Given the description of an element on the screen output the (x, y) to click on. 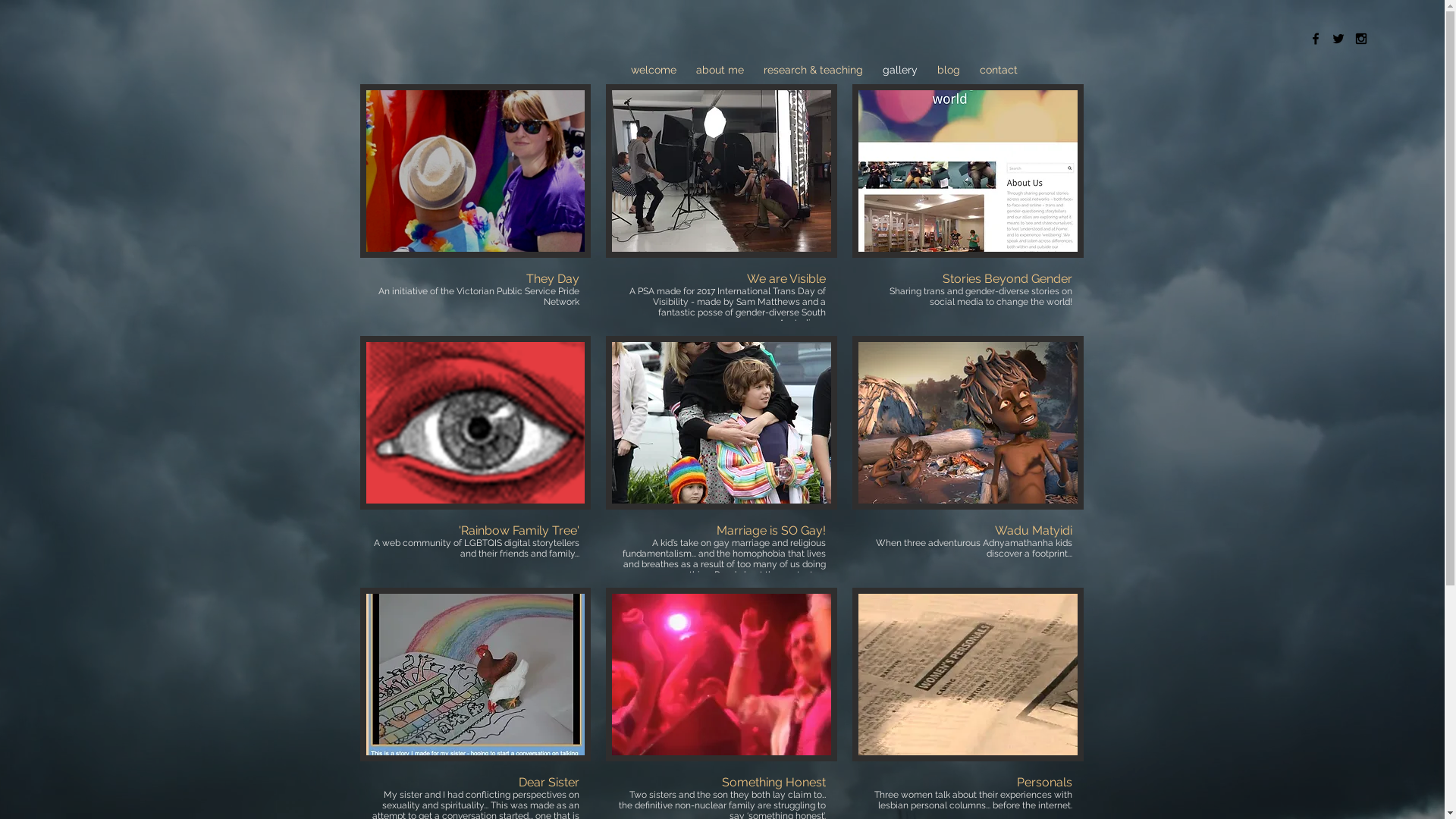
gallery Element type: text (899, 69)
contact Element type: text (997, 69)
research & teaching Element type: text (812, 69)
welcome Element type: text (652, 69)
about me Element type: text (719, 69)
blog Element type: text (947, 69)
